Given the description of an element on the screen output the (x, y) to click on. 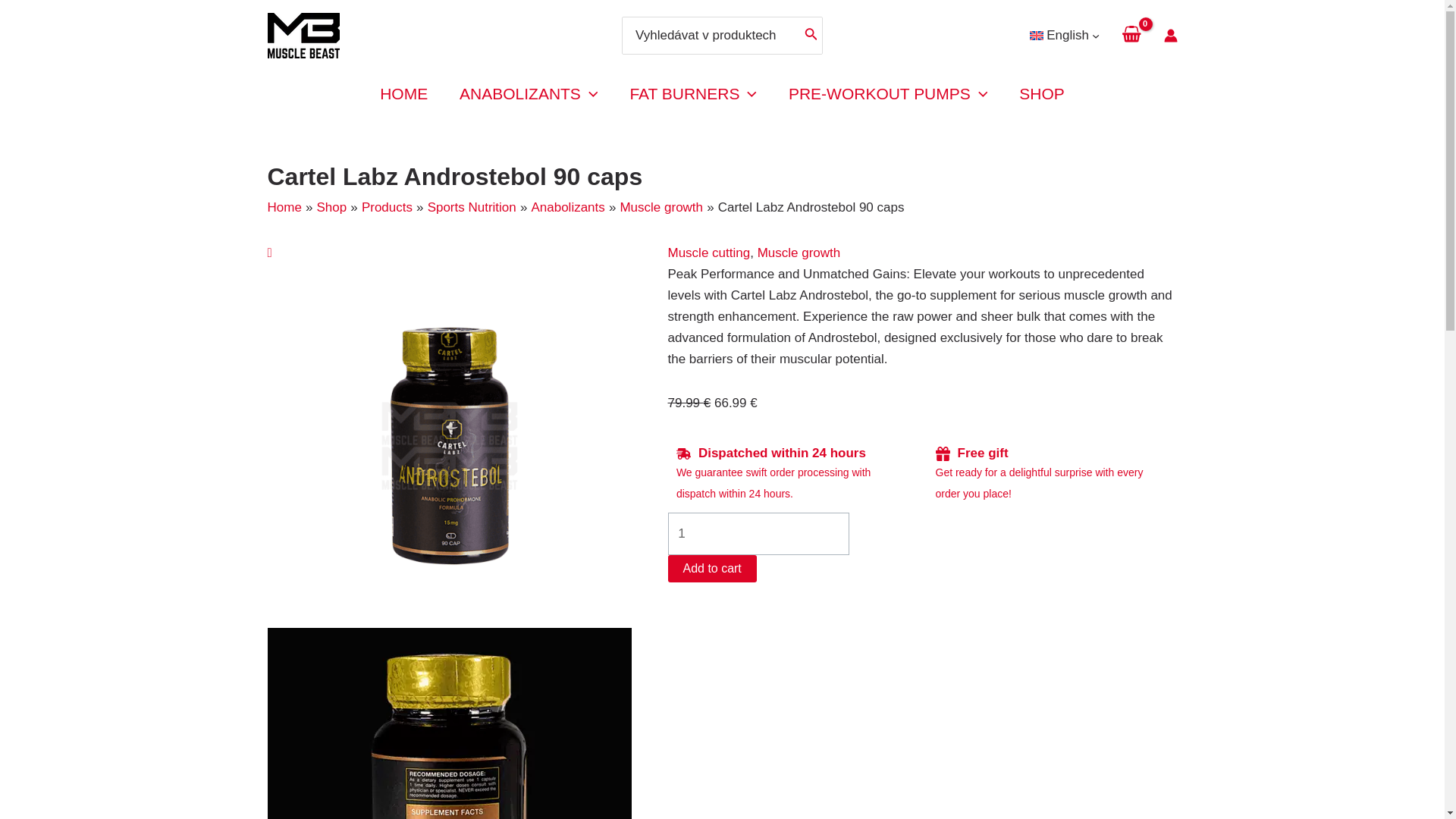
Search (811, 35)
ANABOLIZANTS (528, 94)
HOME (404, 94)
1 (757, 533)
SHOP (1041, 94)
PRE-WORKOUT PUMPS (888, 94)
Cartel Labz Androstebol 90 caps (448, 445)
FAT BURNERS (692, 94)
